Given the description of an element on the screen output the (x, y) to click on. 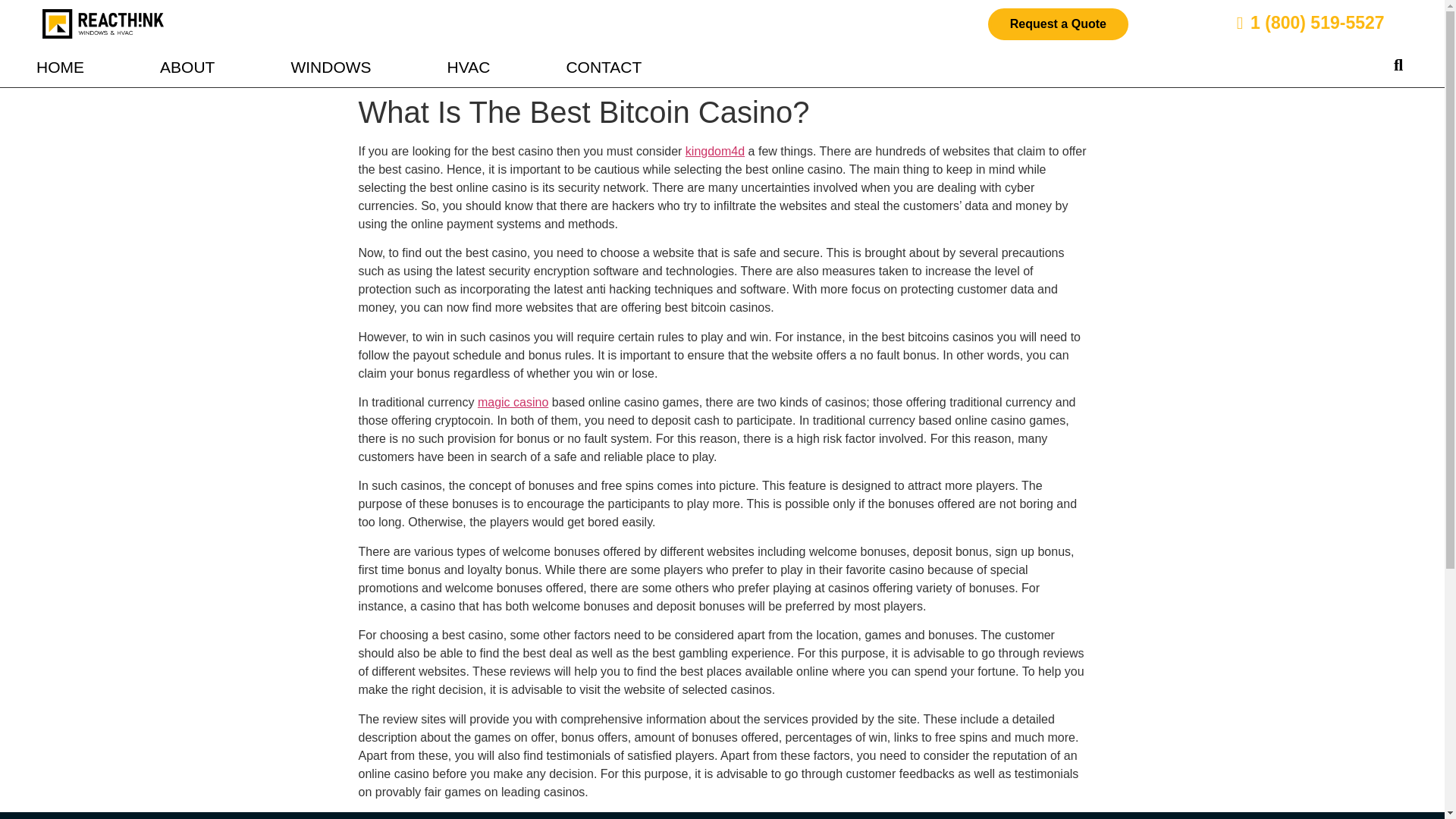
Request a Quote (1058, 24)
kingdom4d (714, 151)
CONTACT (604, 67)
ABOUT (187, 67)
HOME (60, 67)
WINDOWS (330, 67)
magic casino (512, 401)
HVAC (468, 67)
